Given the description of an element on the screen output the (x, y) to click on. 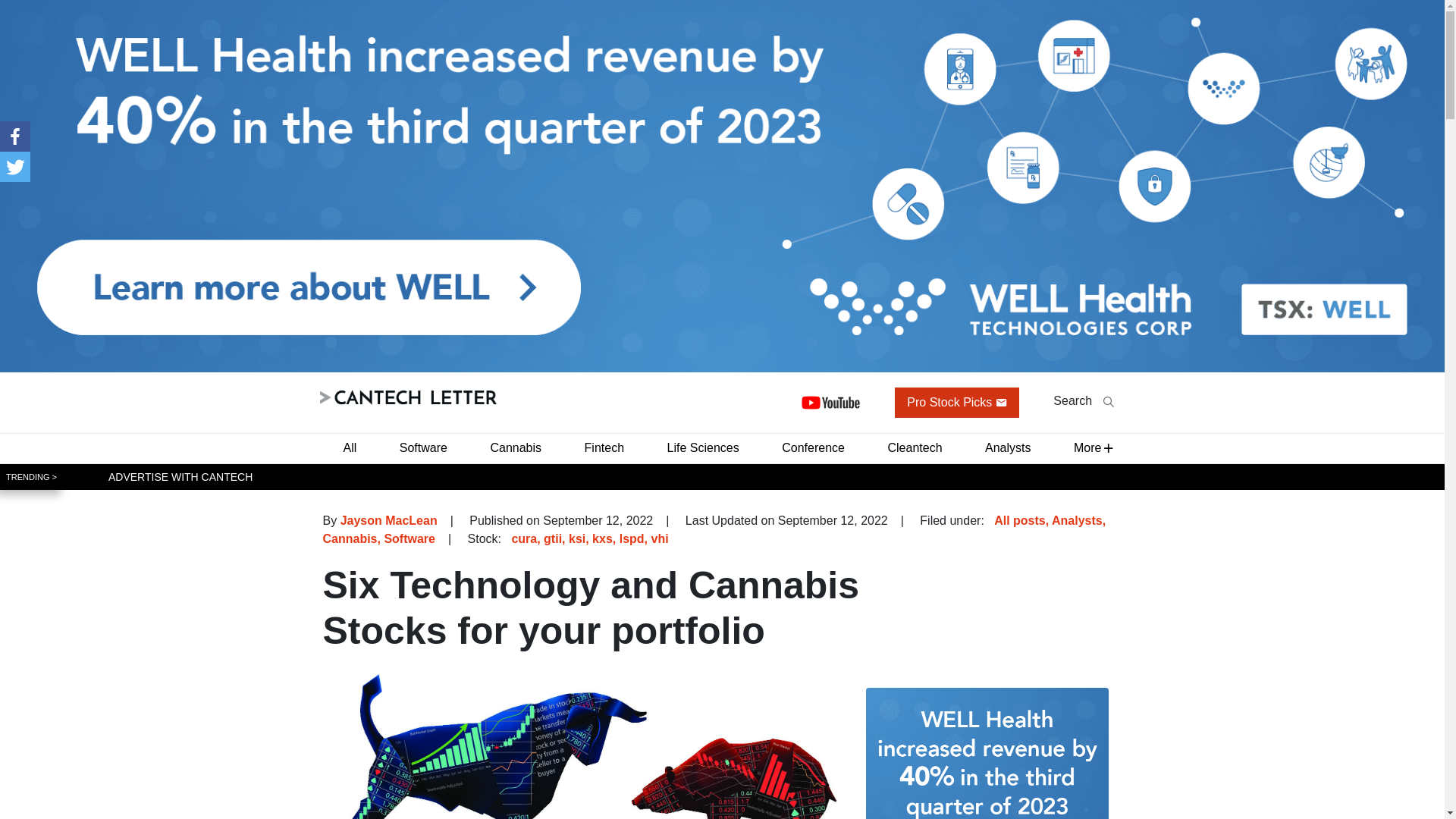
Analysts (1076, 520)
Pro Stock Picks (957, 402)
Jayson MacLean (389, 520)
Analysts (1007, 447)
More (1087, 447)
Search (1083, 400)
Software (423, 447)
Software (409, 538)
Cannabis (515, 447)
Facebook (15, 136)
